Given the description of an element on the screen output the (x, y) to click on. 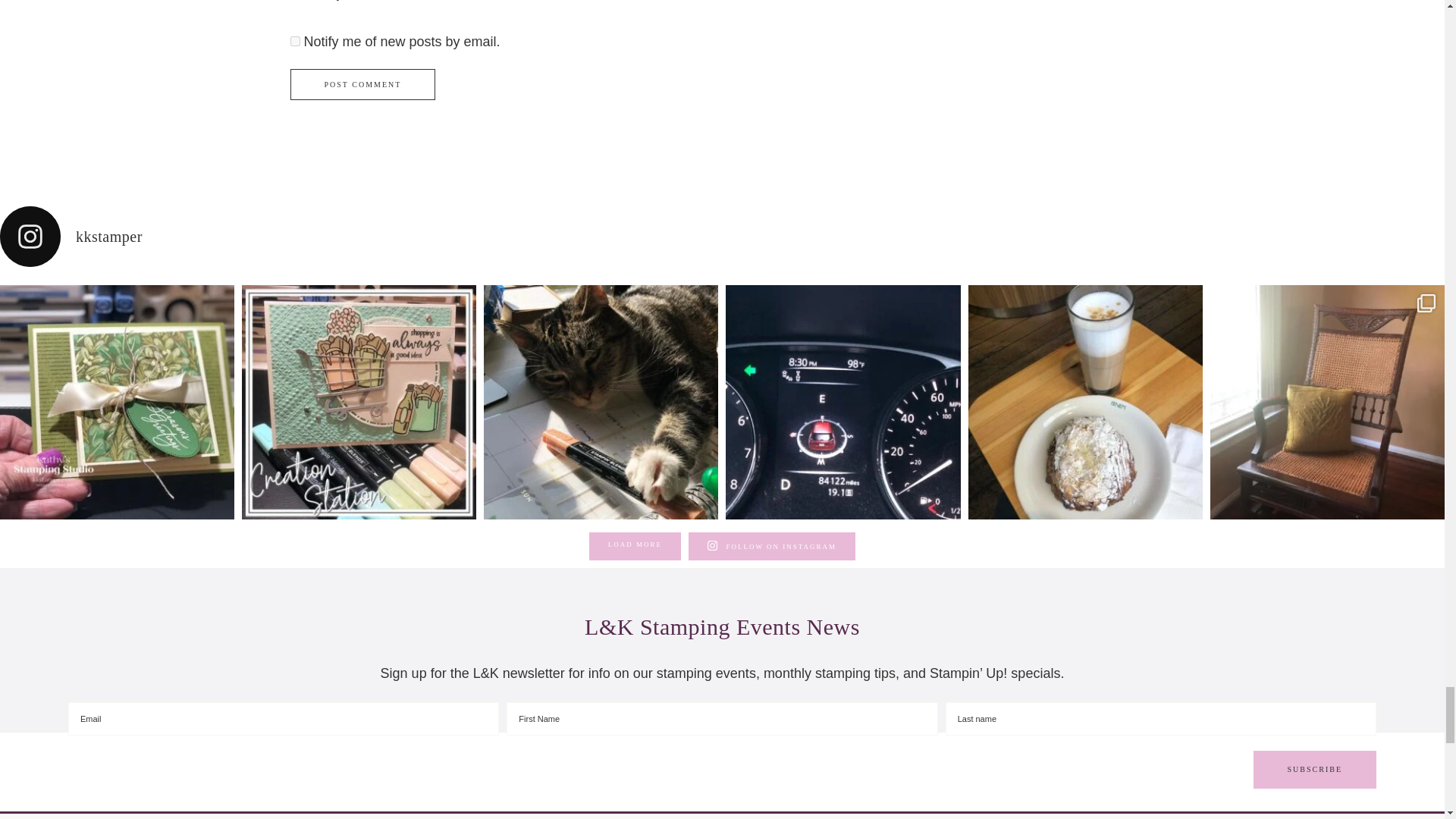
subscribe (294, 40)
Post Comment (362, 83)
